Given the description of an element on the screen output the (x, y) to click on. 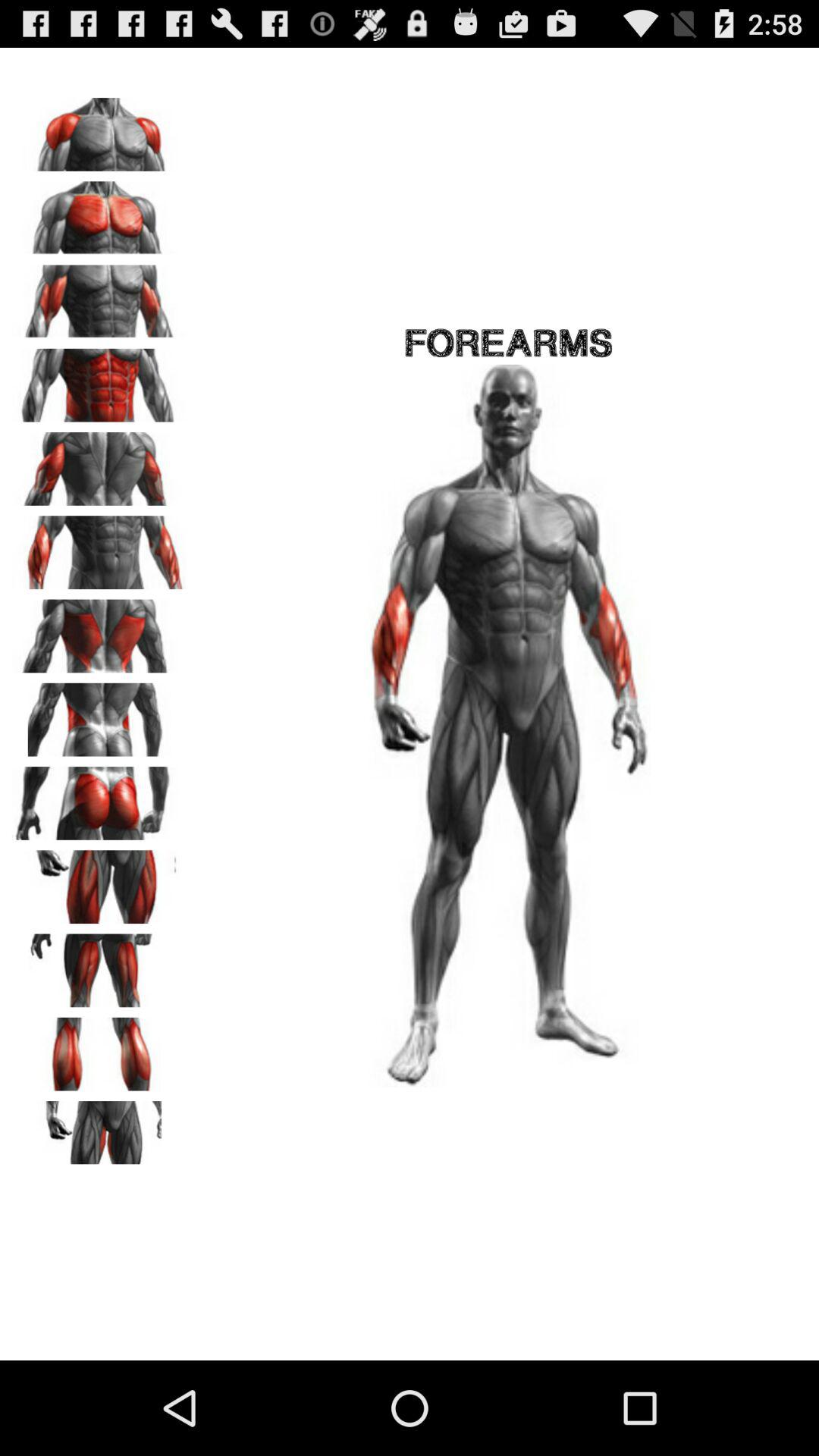
image to select forearms (99, 547)
